Given the description of an element on the screen output the (x, y) to click on. 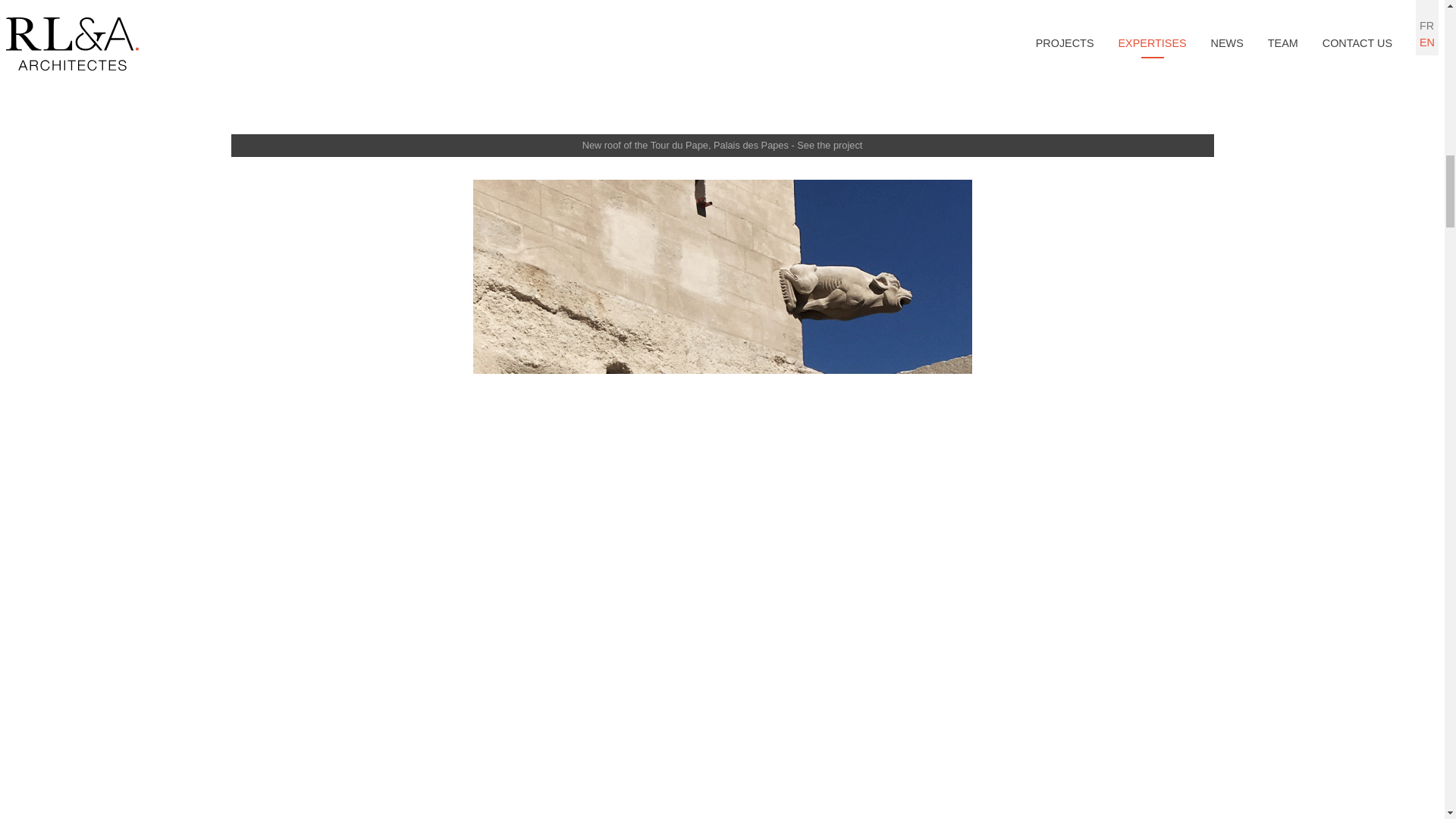
See the project (828, 144)
